Given the description of an element on the screen output the (x, y) to click on. 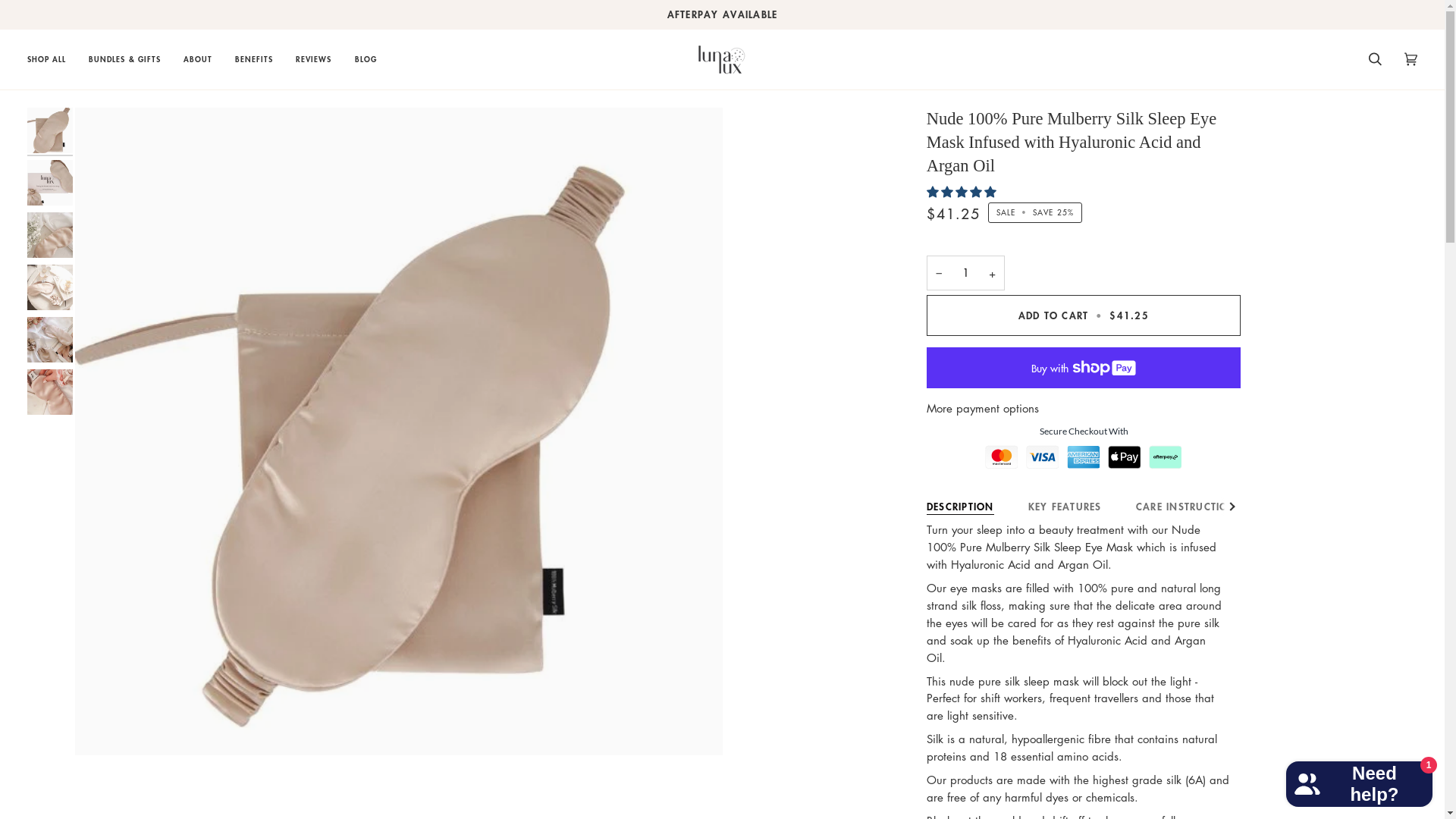
More payment options Element type: text (1083, 408)
SHIPPING & RETURNS Element type: text (1333, 503)
Search Element type: text (1375, 59)
+ Element type: text (991, 272)
KEY FEATURES Element type: text (1064, 503)
BUNDLES & GIFTS Element type: text (124, 59)
ABOUT Element type: text (197, 59)
CARE INSTRUCTIONS Element type: text (1188, 503)
BENEFITS Element type: text (253, 59)
Shopify online store chat Element type: hover (1359, 780)
Cart
(0) Element type: text (1410, 59)
REVIEWS Element type: text (313, 59)
DESCRIPTION Element type: text (960, 503)
trust-badges-widget Element type: hover (1083, 453)
BLOG Element type: text (365, 59)
SHOP ALL Element type: text (52, 59)
See all Element type: text (1230, 506)
